Given the description of an element on the screen output the (x, y) to click on. 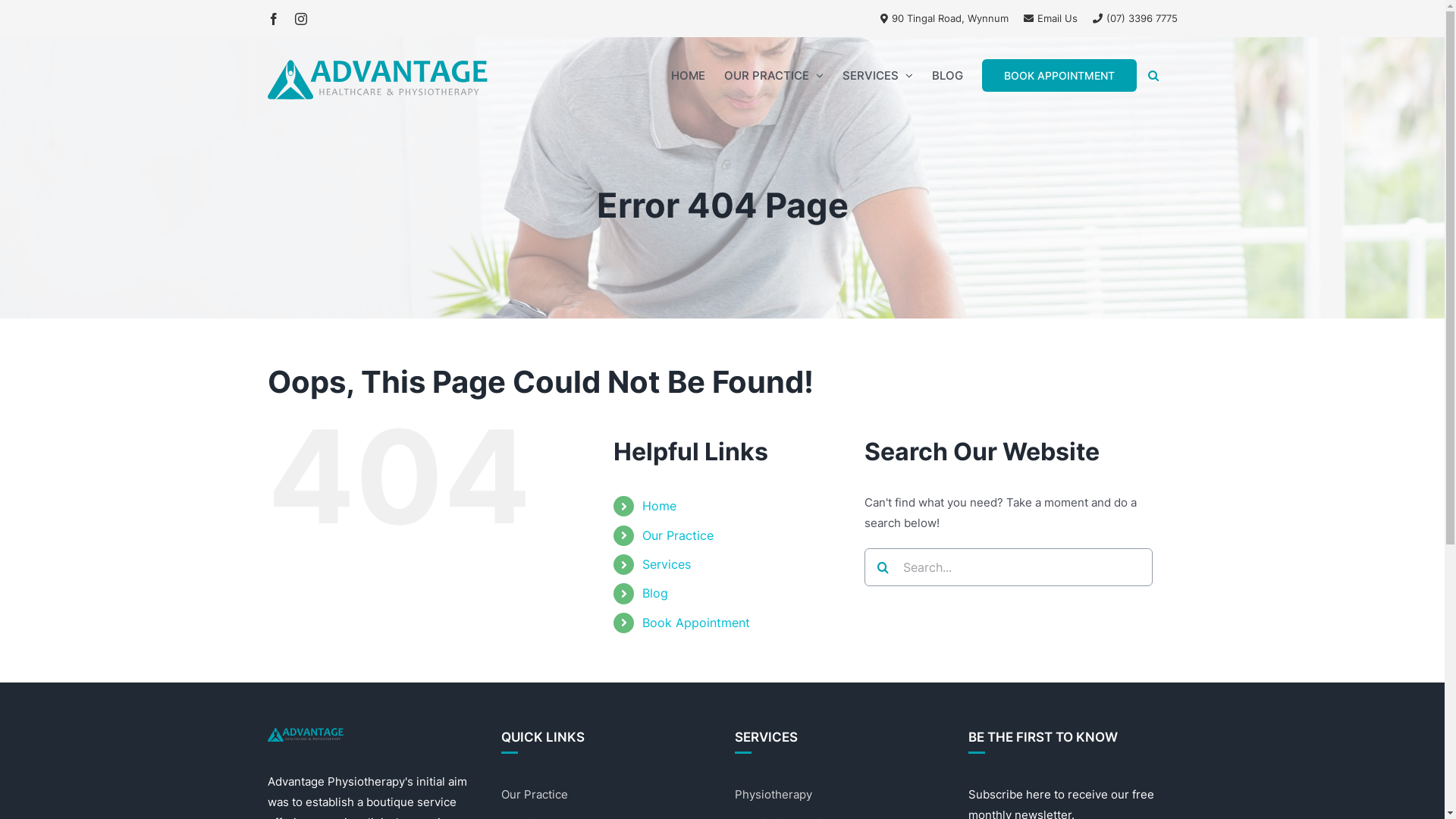
Home Element type: text (659, 505)
Our Practice Element type: text (533, 794)
Instagram Element type: text (300, 18)
BOOK APPOINTMENT Element type: text (1058, 74)
Search Element type: hover (1153, 74)
Facebook Element type: text (272, 18)
(07) 3396 7775 Element type: text (1134, 18)
90 Tingal Road, Wynnum Element type: text (943, 18)
Physiotherapy Element type: text (772, 794)
SERVICES Element type: text (876, 74)
OUR PRACTICE Element type: text (772, 74)
Services Element type: text (666, 563)
Email Us Element type: text (1050, 18)
Book Appointment Element type: text (695, 622)
Blog Element type: text (655, 592)
Our Practice Element type: text (677, 534)
BLOG Element type: text (946, 74)
HOME Element type: text (687, 74)
